Given the description of an element on the screen output the (x, y) to click on. 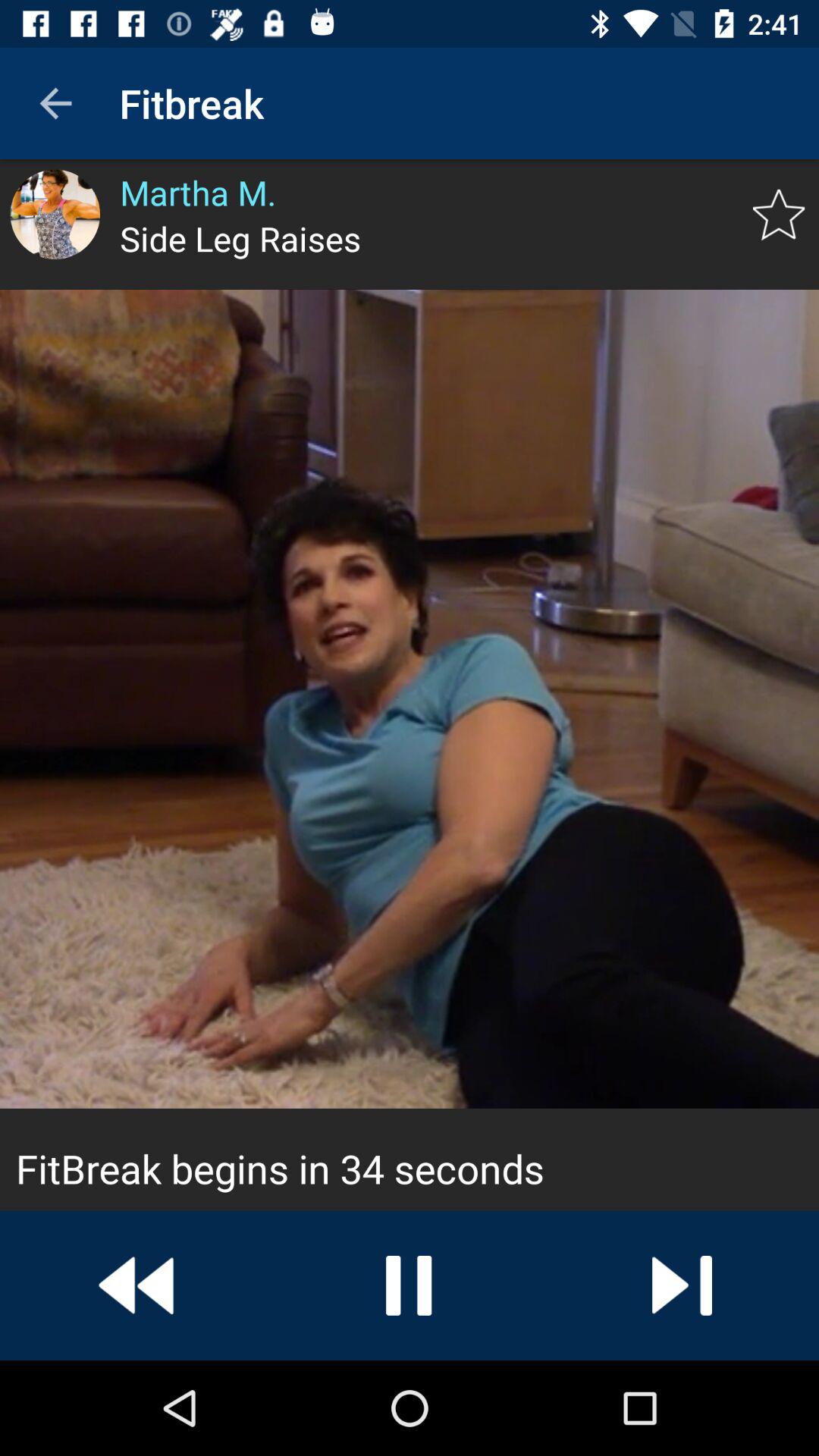
launch item to the right of the side leg raises item (778, 215)
